Given the description of an element on the screen output the (x, y) to click on. 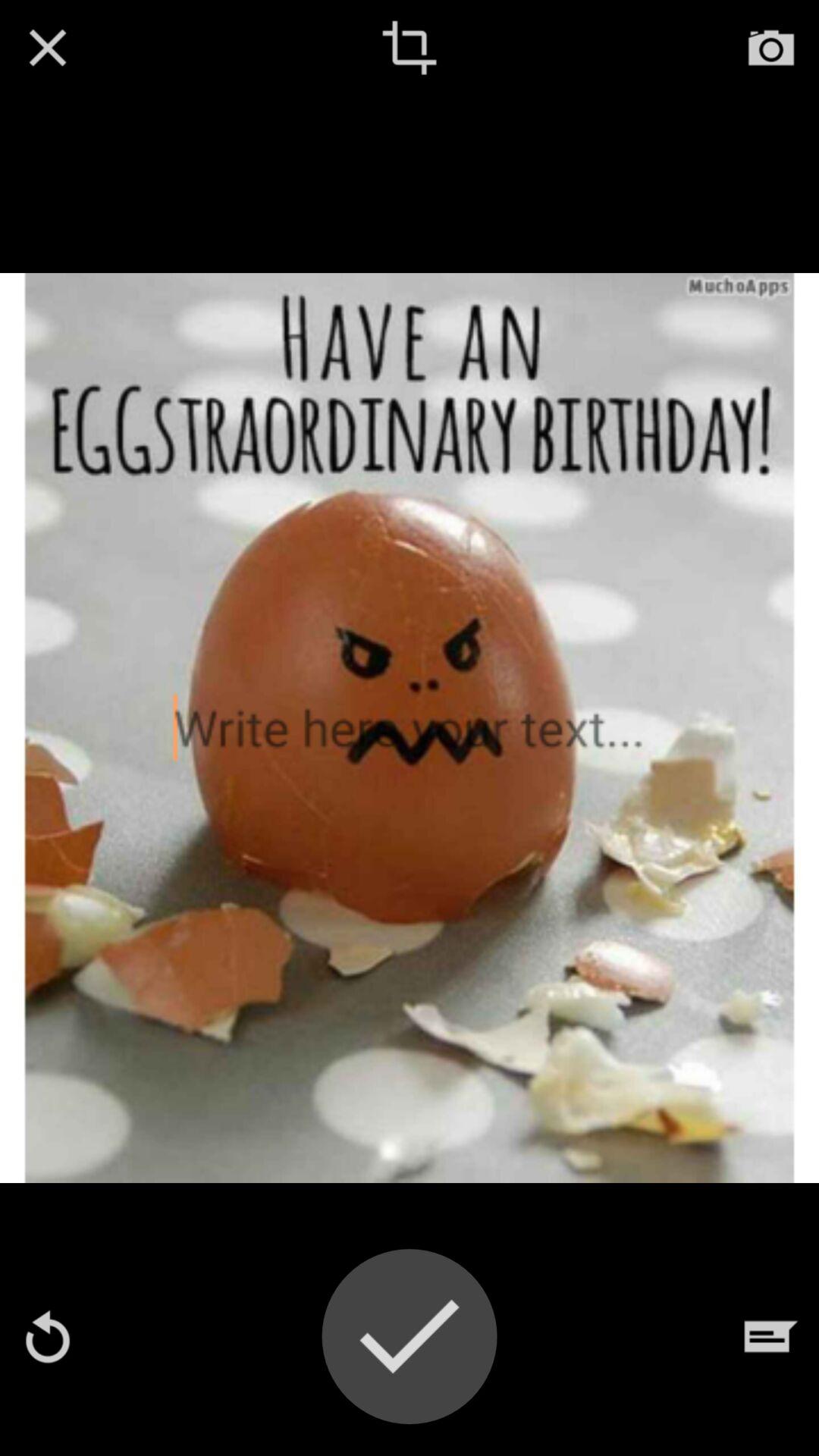
edit (409, 47)
